Given the description of an element on the screen output the (x, y) to click on. 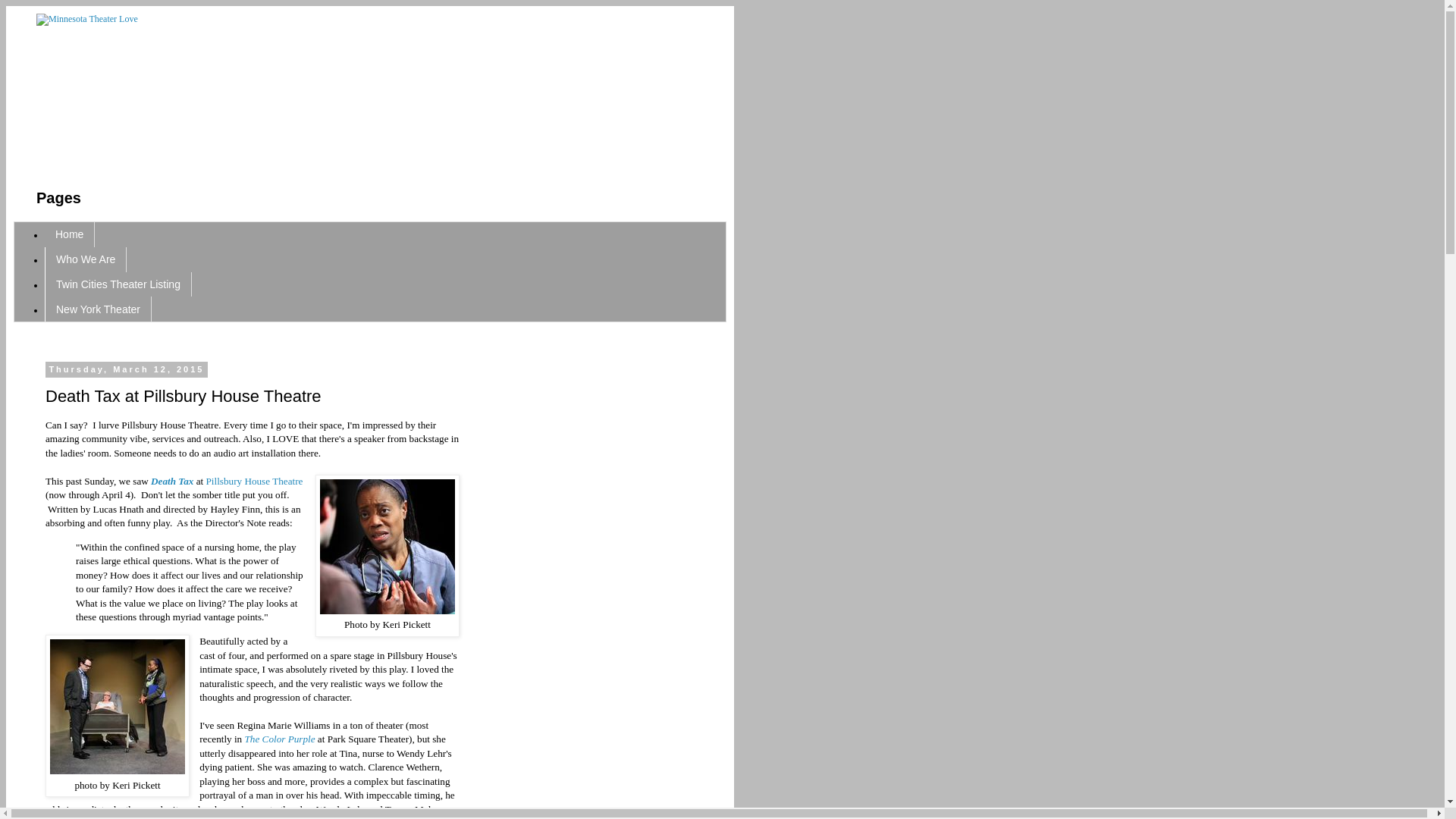
Twin Cities Theater Listing (118, 284)
Pillsbury House Theatre (253, 480)
Who We Are (85, 259)
New York Theater (98, 308)
The Color Purple (279, 738)
Home (69, 234)
Death Tax (172, 480)
